Given the description of an element on the screen output the (x, y) to click on. 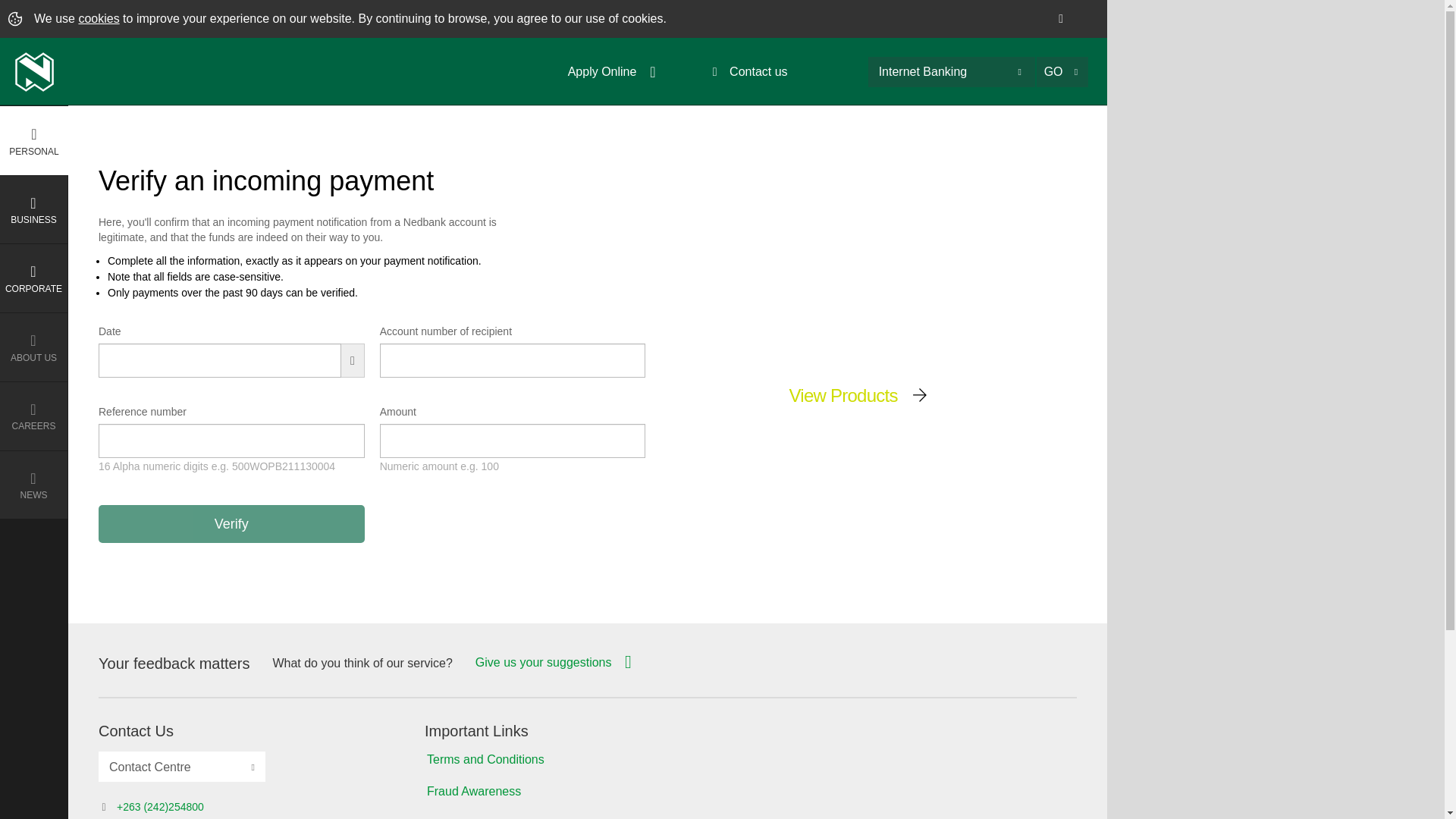
Internet Banking (923, 71)
cookies (98, 18)
Personal (34, 140)
Bank (34, 240)
Borrow (34, 308)
Internet Banking (951, 71)
CAREERS (34, 416)
Contact us (773, 71)
FOREX (34, 410)
PERSONAL (34, 140)
